Given the description of an element on the screen output the (x, y) to click on. 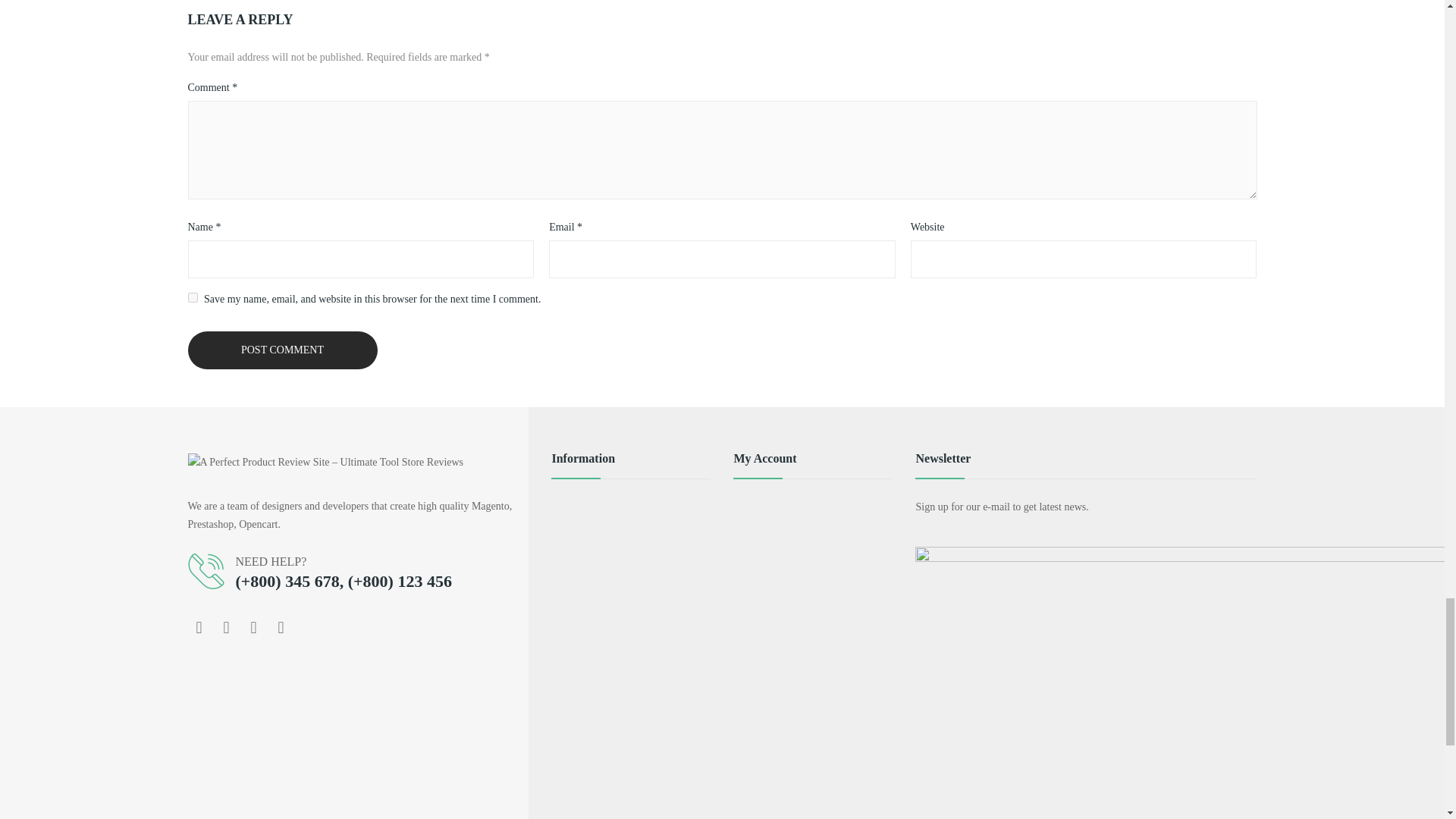
Post Comment (282, 350)
Twitter (226, 628)
Instagram (253, 628)
Linkedin (280, 628)
Facebook (199, 628)
yes (192, 297)
